Given the description of an element on the screen output the (x, y) to click on. 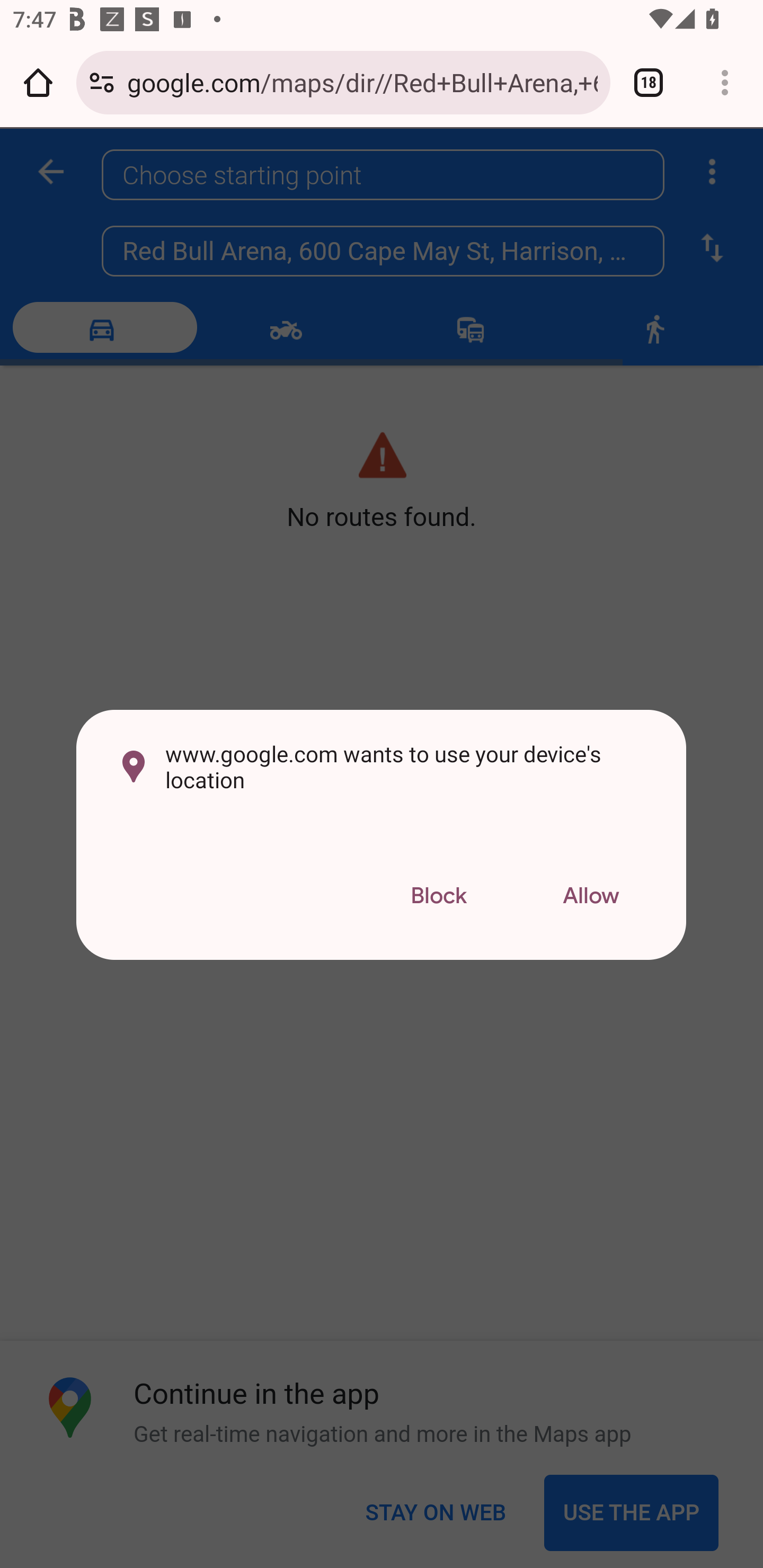
Open the home page (38, 82)
Connection is secure (101, 82)
Switch or close tabs (648, 82)
Customize and control Google Chrome (724, 82)
Block (438, 895)
Allow (590, 895)
